Given the description of an element on the screen output the (x, y) to click on. 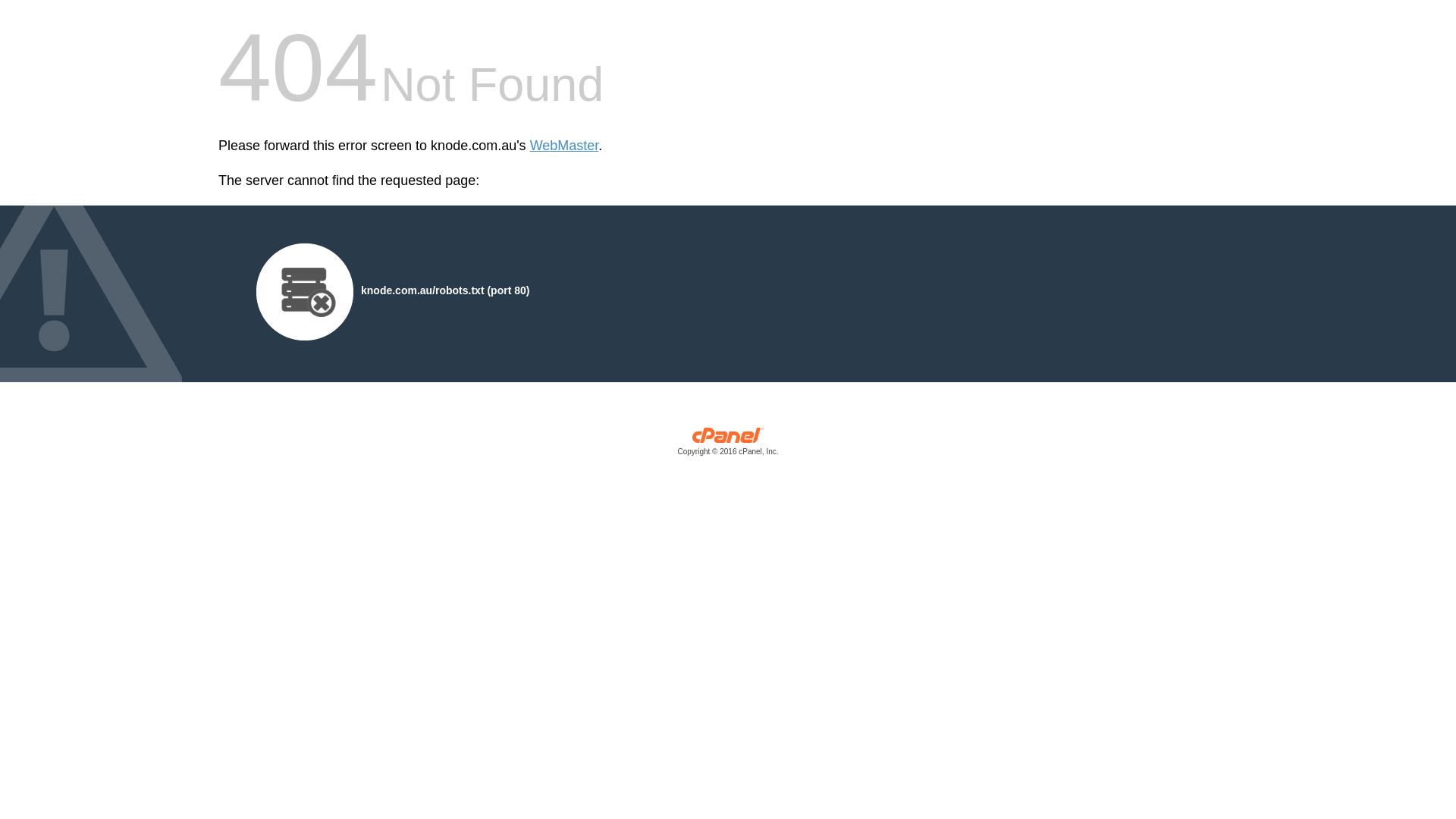
WebMaster Element type: text (564, 145)
